Given the description of an element on the screen output the (x, y) to click on. 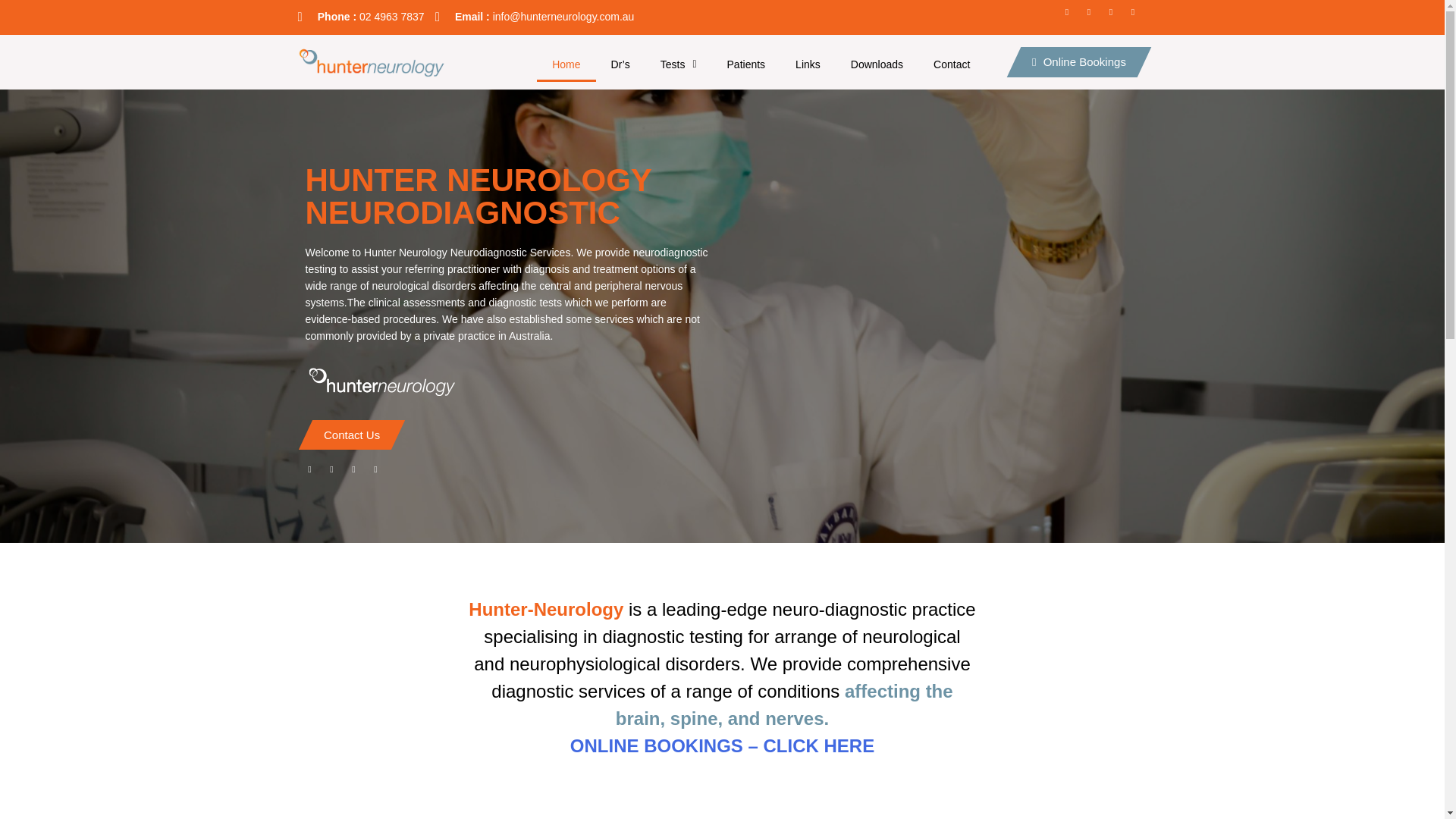
Rss (1137, 16)
Twitter (1115, 16)
Tests (678, 63)
Home (566, 63)
Linkedin-in (1093, 16)
Online Bookings (1071, 61)
Downloads (876, 63)
Patients (745, 63)
Contact (951, 63)
Facebook-f (1071, 16)
